Given the description of an element on the screen output the (x, y) to click on. 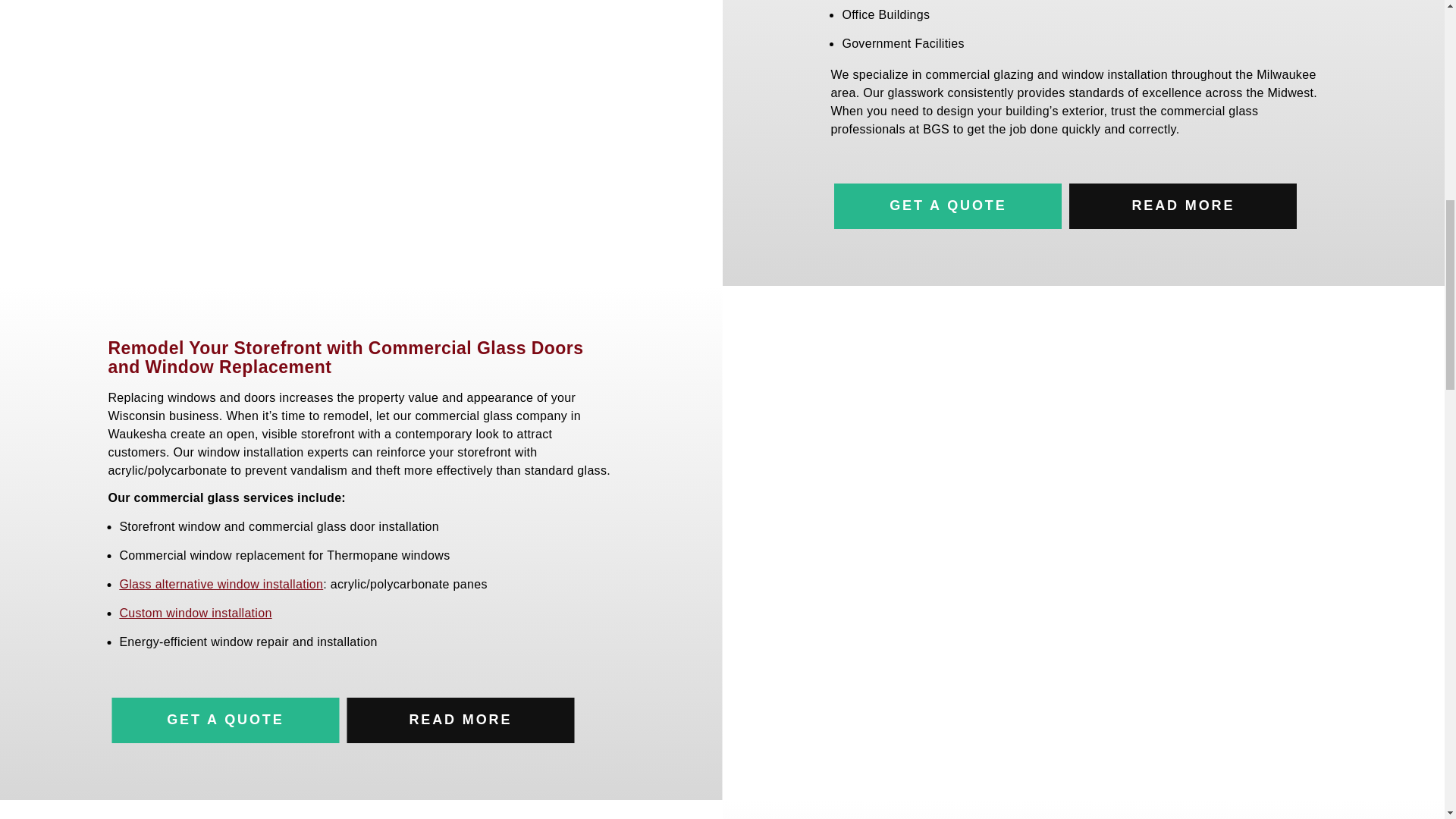
Glass alternative window installation (221, 584)
GET A QUOTE (947, 206)
GET A QUOTE (225, 719)
READ MORE (461, 719)
Custom window installation (195, 612)
READ MORE (1182, 206)
